Given the description of an element on the screen output the (x, y) to click on. 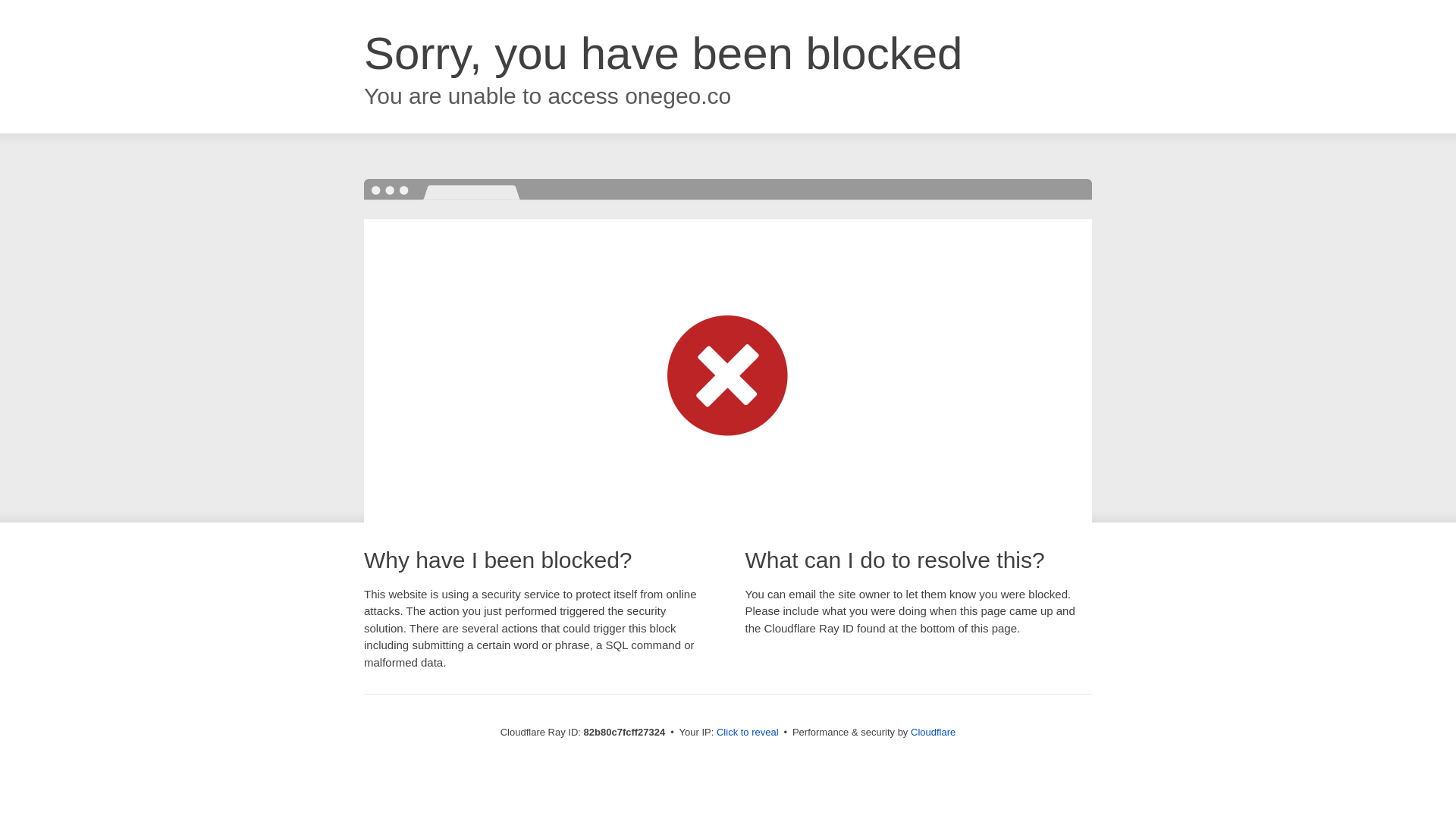
Click to reveal Element type: text (747, 732)
Cloudflare Element type: text (932, 731)
